Given the description of an element on the screen output the (x, y) to click on. 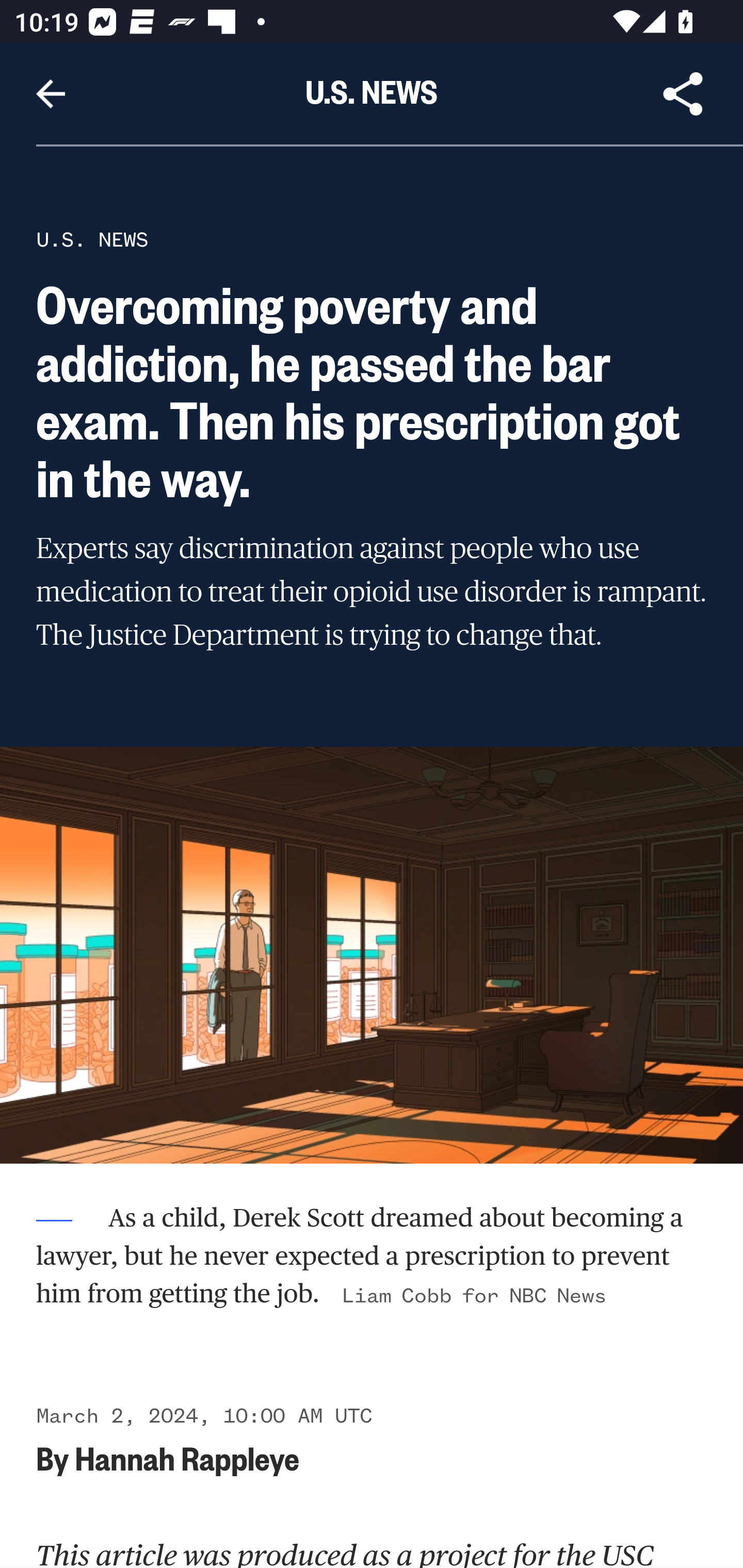
Navigate up (50, 93)
Share Article, button (683, 94)
U.S. NEWS (91, 239)
